Given the description of an element on the screen output the (x, y) to click on. 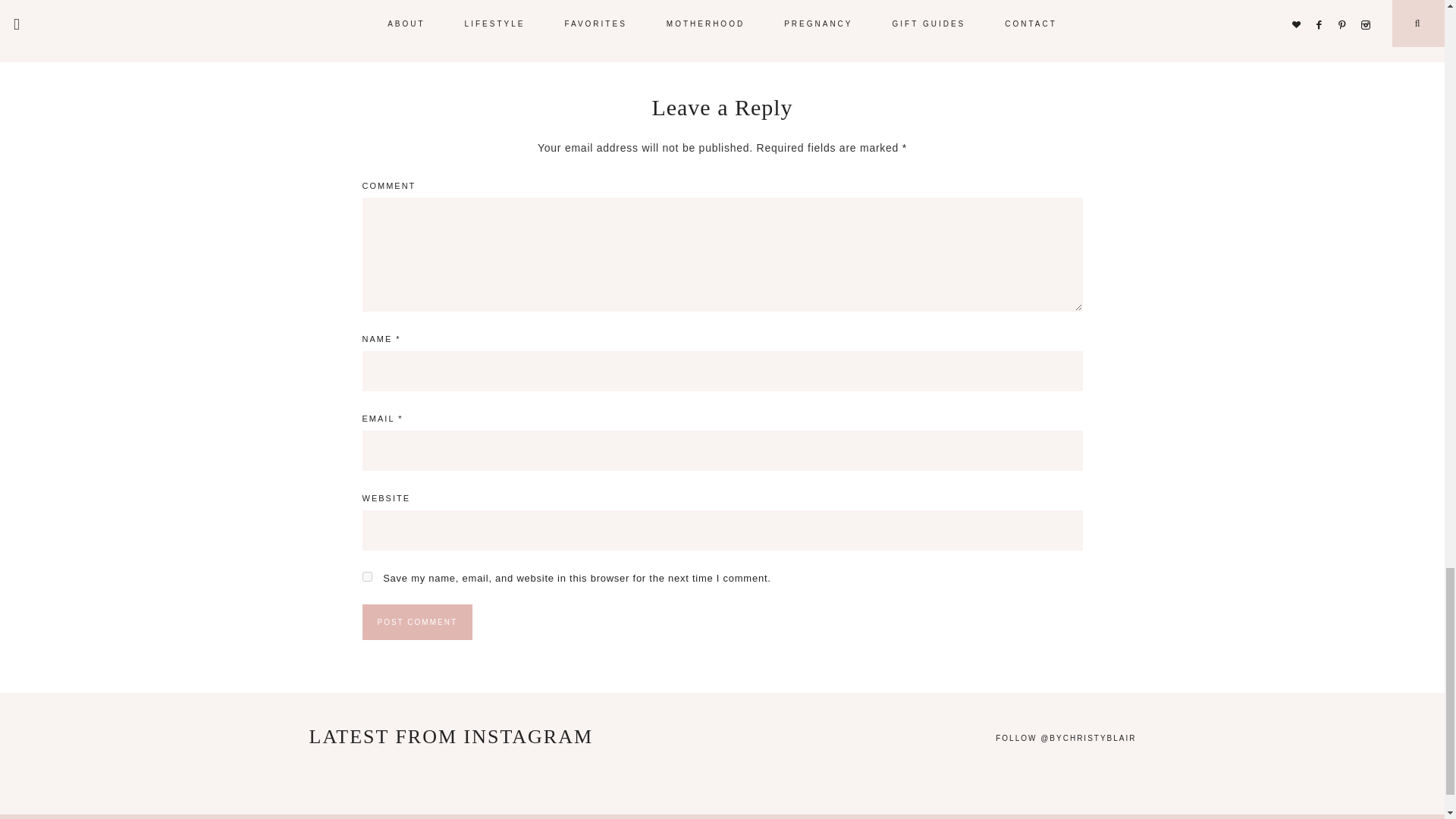
Post Comment (416, 621)
Permanent Link to Trying to Conceive on a Vegan Diet? (718, 13)
Permanent Link to Working From Home: The New Normal (442, 13)
Post Comment (416, 621)
yes (367, 576)
